Given the description of an element on the screen output the (x, y) to click on. 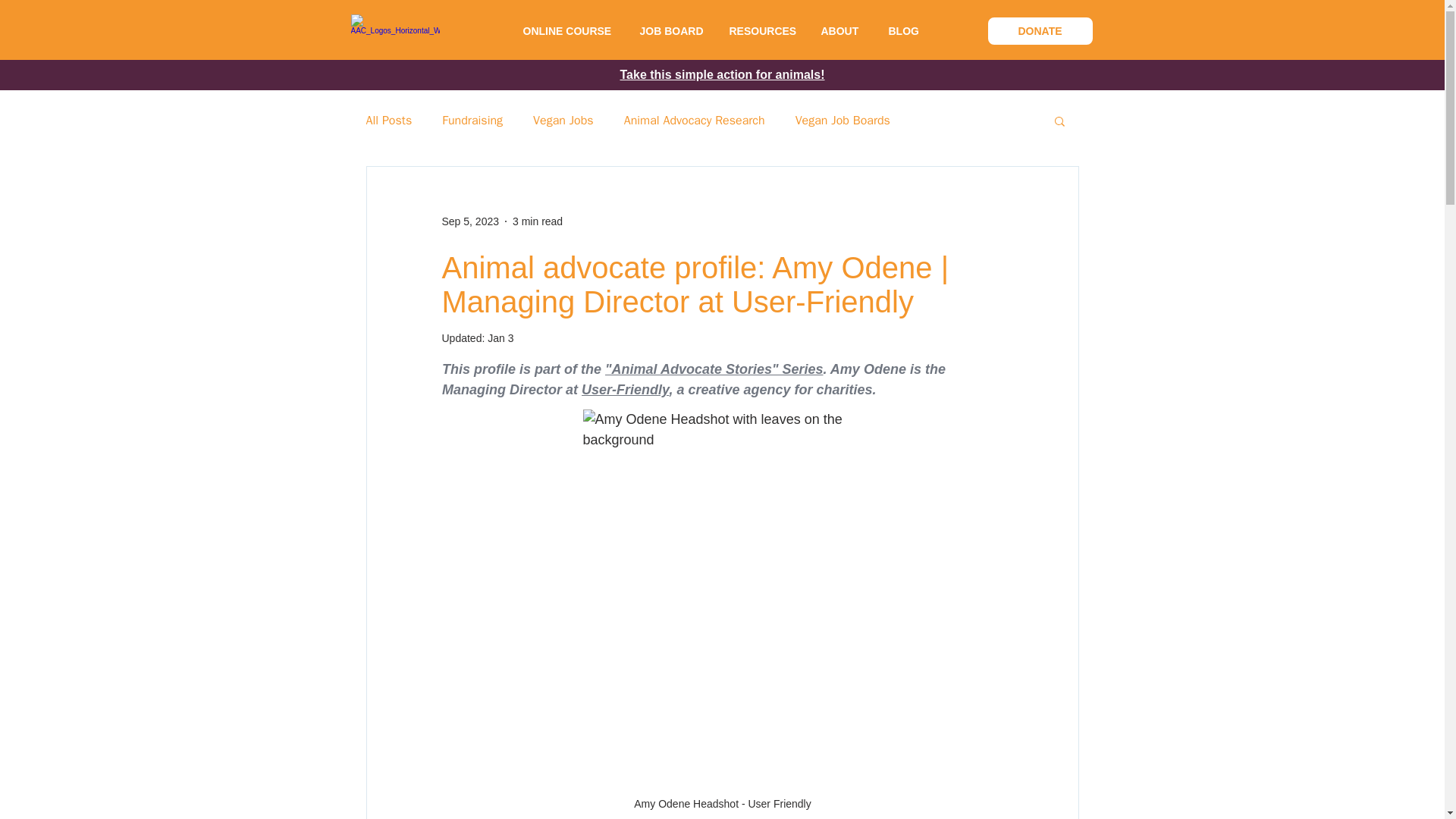
Vegan Jobs (563, 119)
Sep 5, 2023 (470, 221)
Animal Advocacy Research (694, 119)
ABOUT (838, 31)
Take this simple action for animals! (722, 74)
Jan 3 (500, 337)
BLOG (903, 31)
3 min read (537, 221)
Fundraising (472, 119)
All Posts (388, 119)
